Given the description of an element on the screen output the (x, y) to click on. 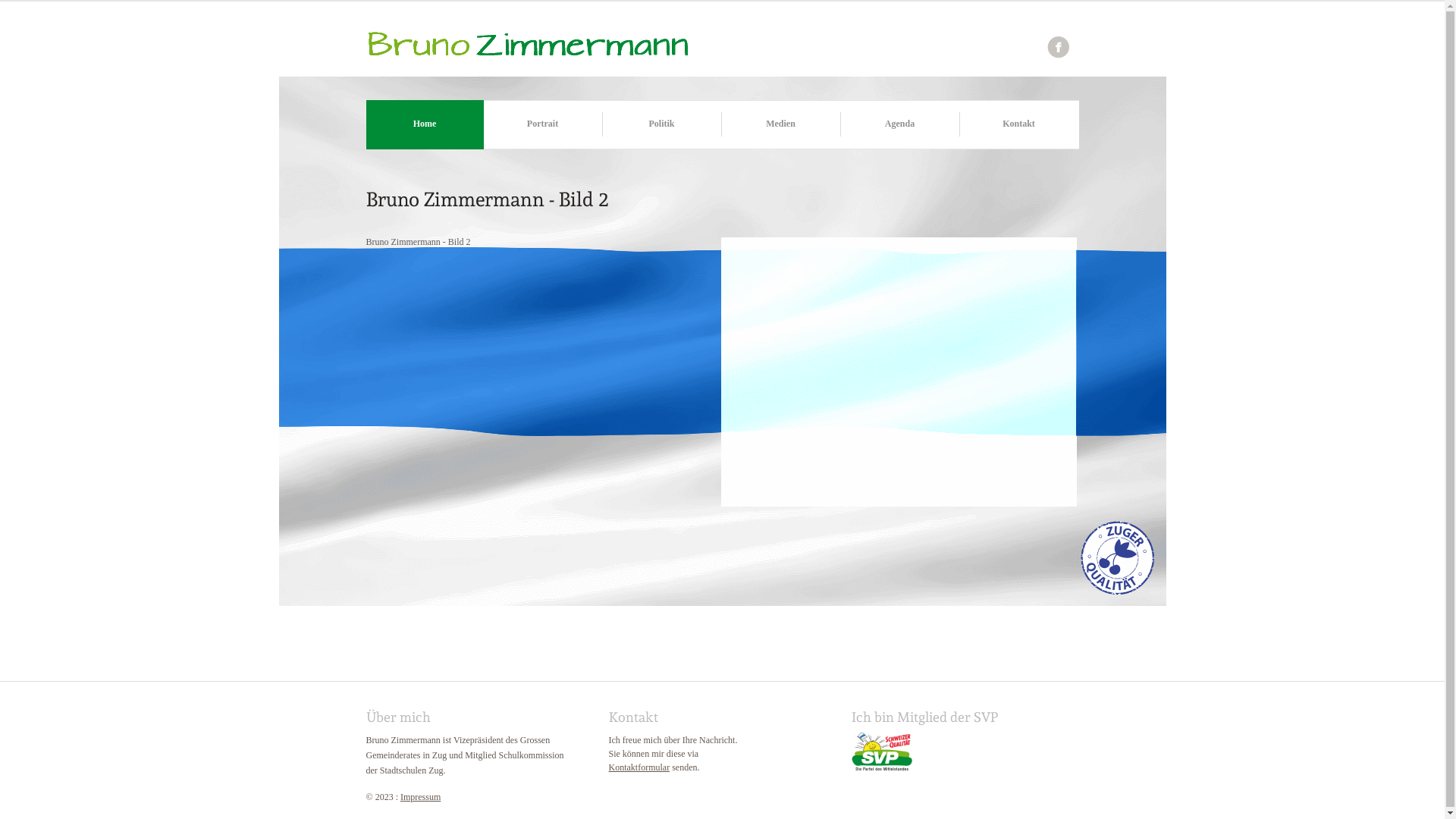
SVP Stadt Zug Element type: hover (880, 767)
Kontaktformular Element type: text (638, 767)
Medien Element type: text (780, 124)
Home Element type: text (424, 124)
Impressum Element type: text (420, 796)
Portrait Element type: text (542, 124)
Agenda Element type: text (900, 124)
Politik Element type: text (661, 124)
Kontakt Element type: text (1018, 124)
